Given the description of an element on the screen output the (x, y) to click on. 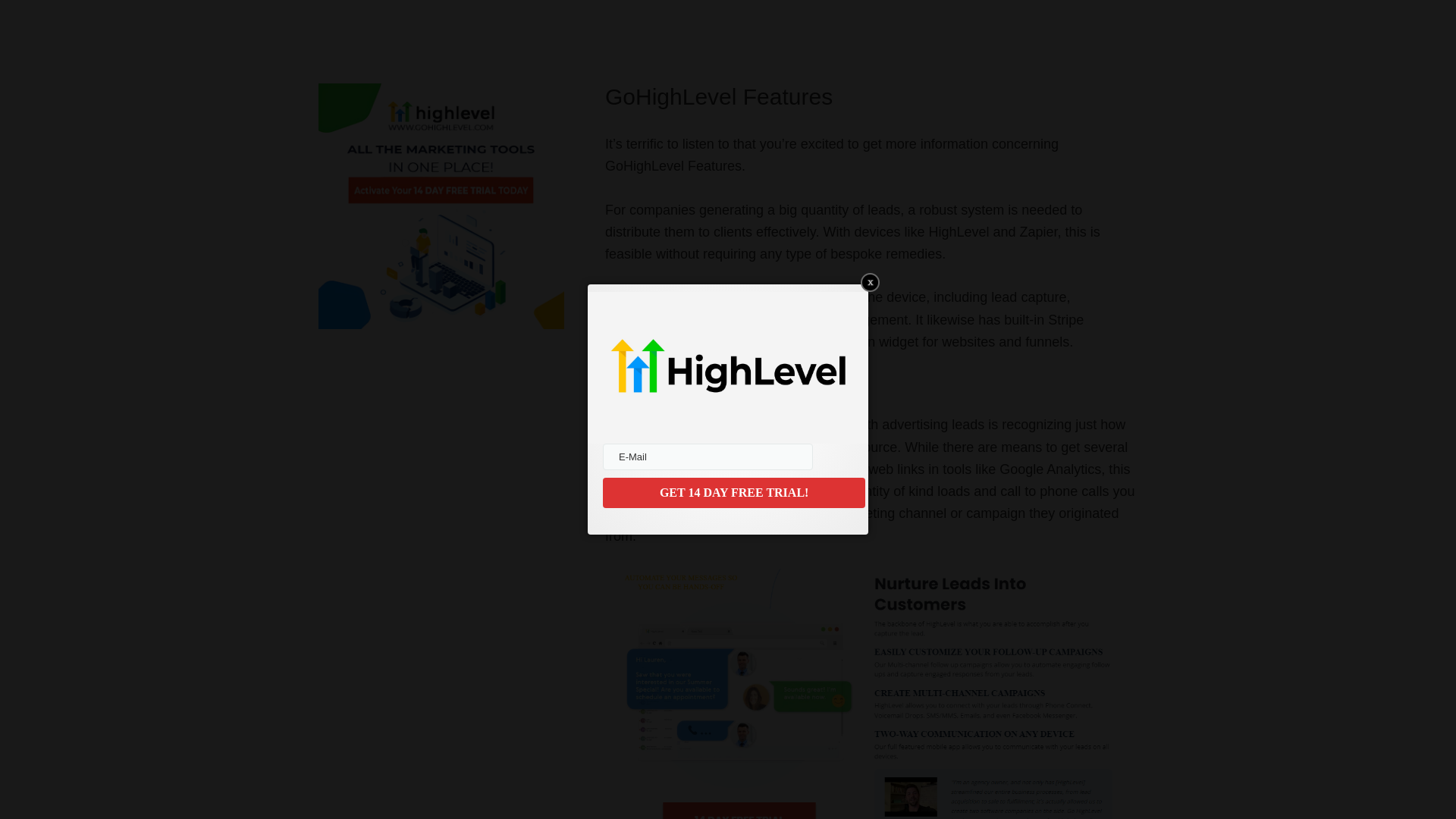
GET 14 DAY FREE TRIAL! (733, 492)
GET 14 DAY FREE TRIAL! (733, 492)
